Given the description of an element on the screen output the (x, y) to click on. 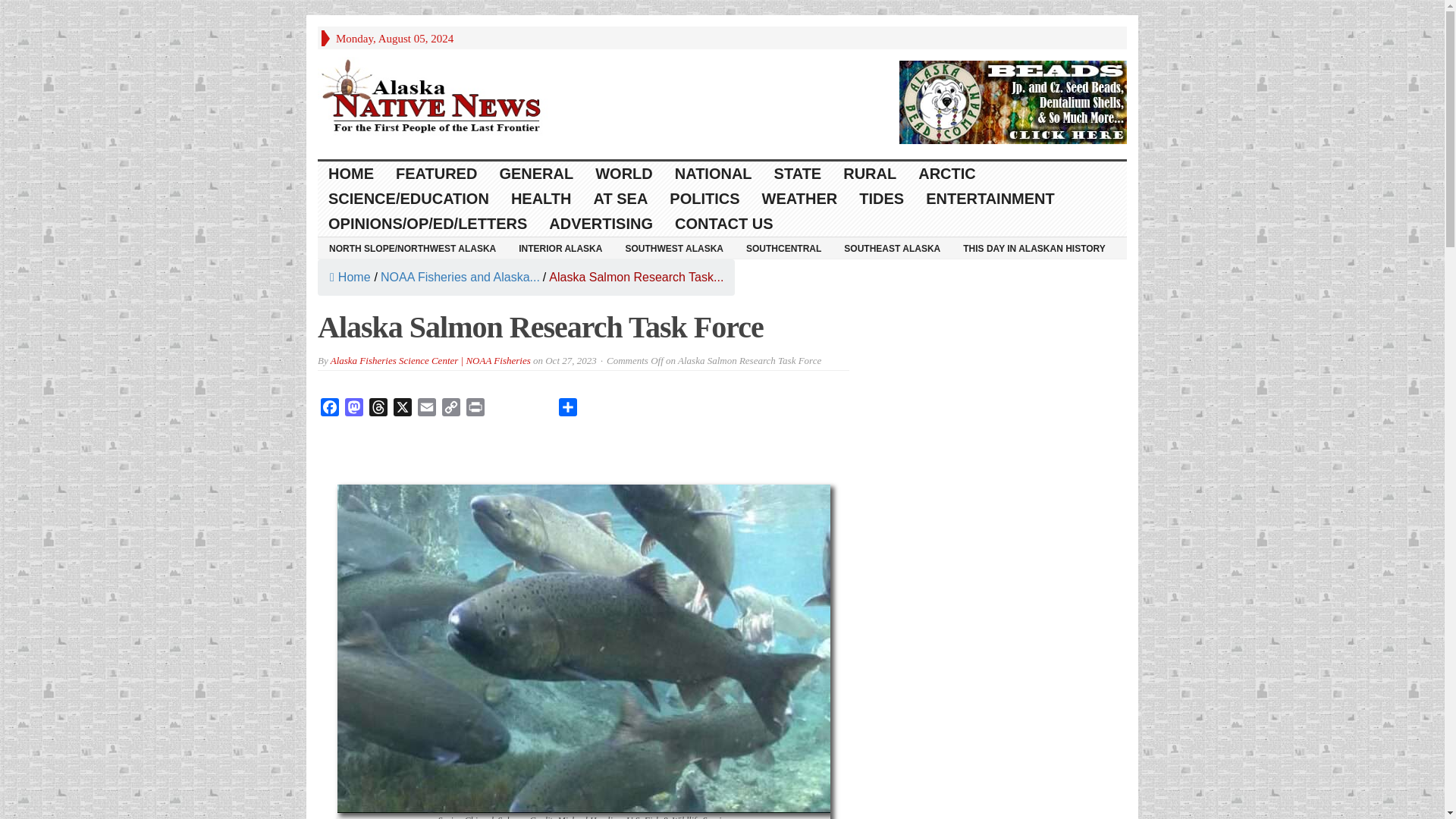
GENERAL (536, 173)
Mastodon (354, 409)
Alaska Salmon Research Task Force (635, 277)
STATE (797, 173)
Email (426, 409)
RURAL (869, 173)
HOME (351, 173)
AT SEA (620, 198)
Facebook (329, 409)
ARCTIC (947, 173)
Advertisement (583, 456)
ENTERTAINMENT (990, 198)
Category Name (460, 277)
HEALTH (541, 198)
SOUTHEAST ALASKA (892, 247)
